Given the description of an element on the screen output the (x, y) to click on. 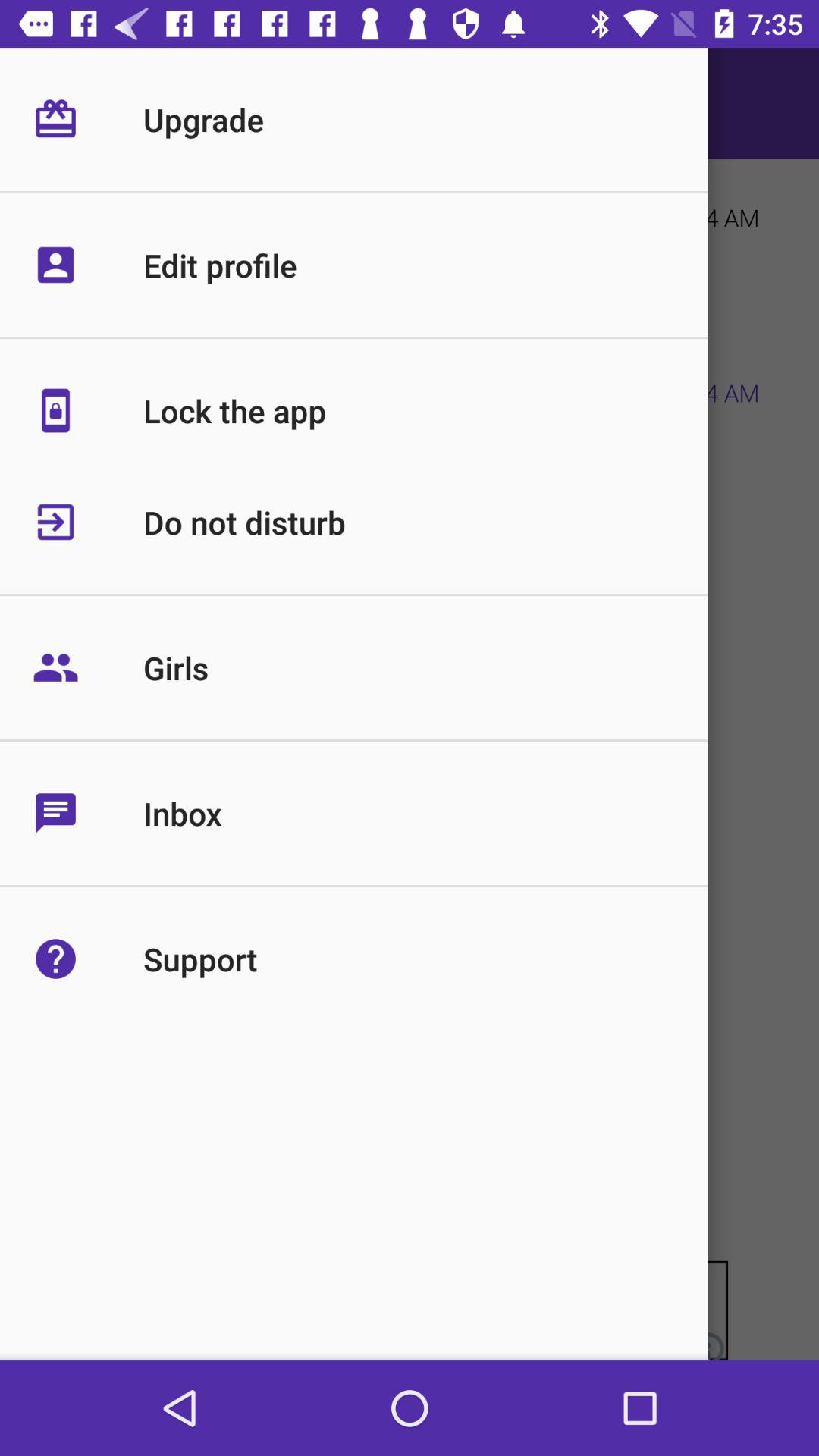
select the icon left to do not disturb (87, 521)
select the icon left to text inbox (87, 813)
select the lock button which is before lock the app option (92, 433)
click on the icon which is to the left side of the girls option (87, 667)
